Given the description of an element on the screen output the (x, y) to click on. 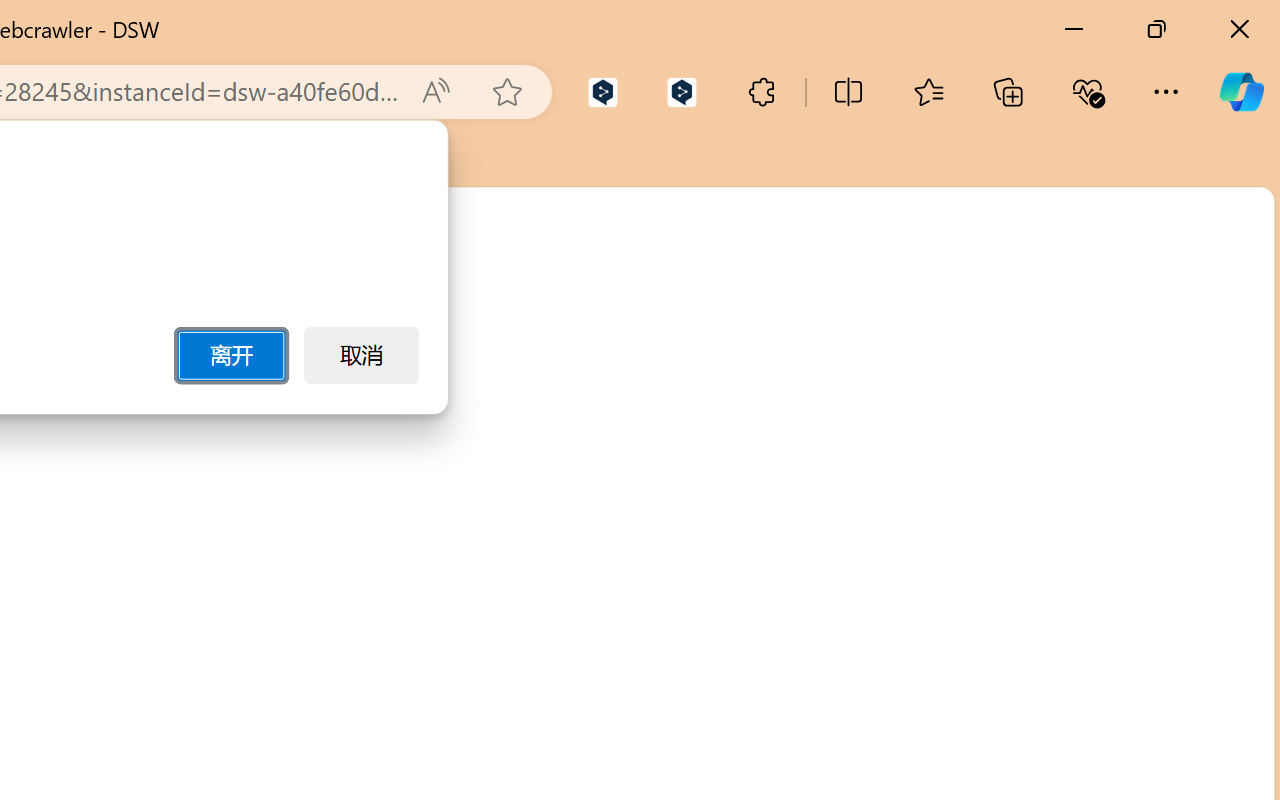
Bangla (1063, 662)
Czech (detected) (1037, 250)
Arabic (1063, 480)
Basque (1063, 753)
Armenian (1063, 525)
Czech (detected) (1063, 297)
